Given the description of an element on the screen output the (x, y) to click on. 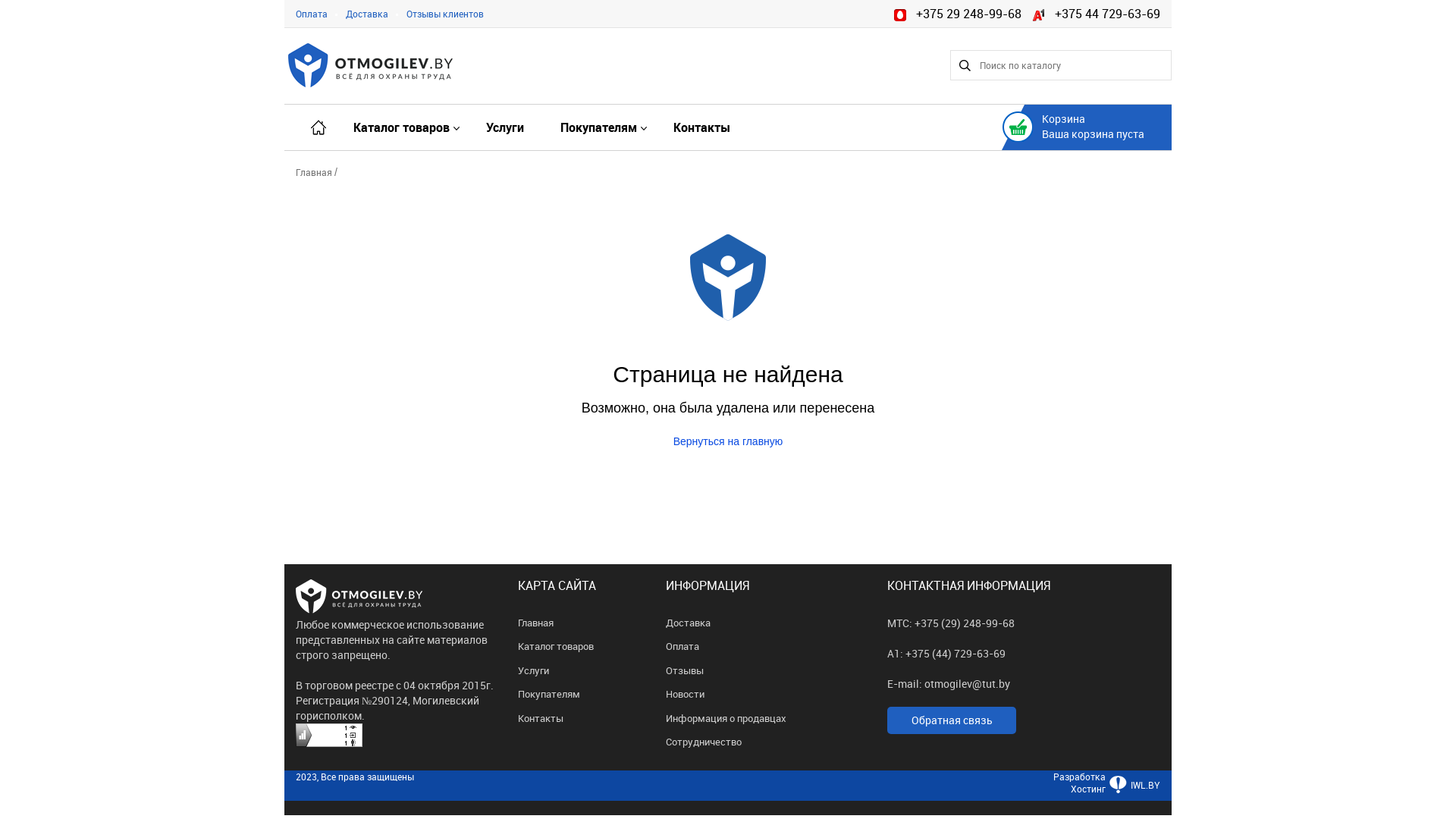
IWL.BY Element type: text (1132, 792)
